Given the description of an element on the screen output the (x, y) to click on. 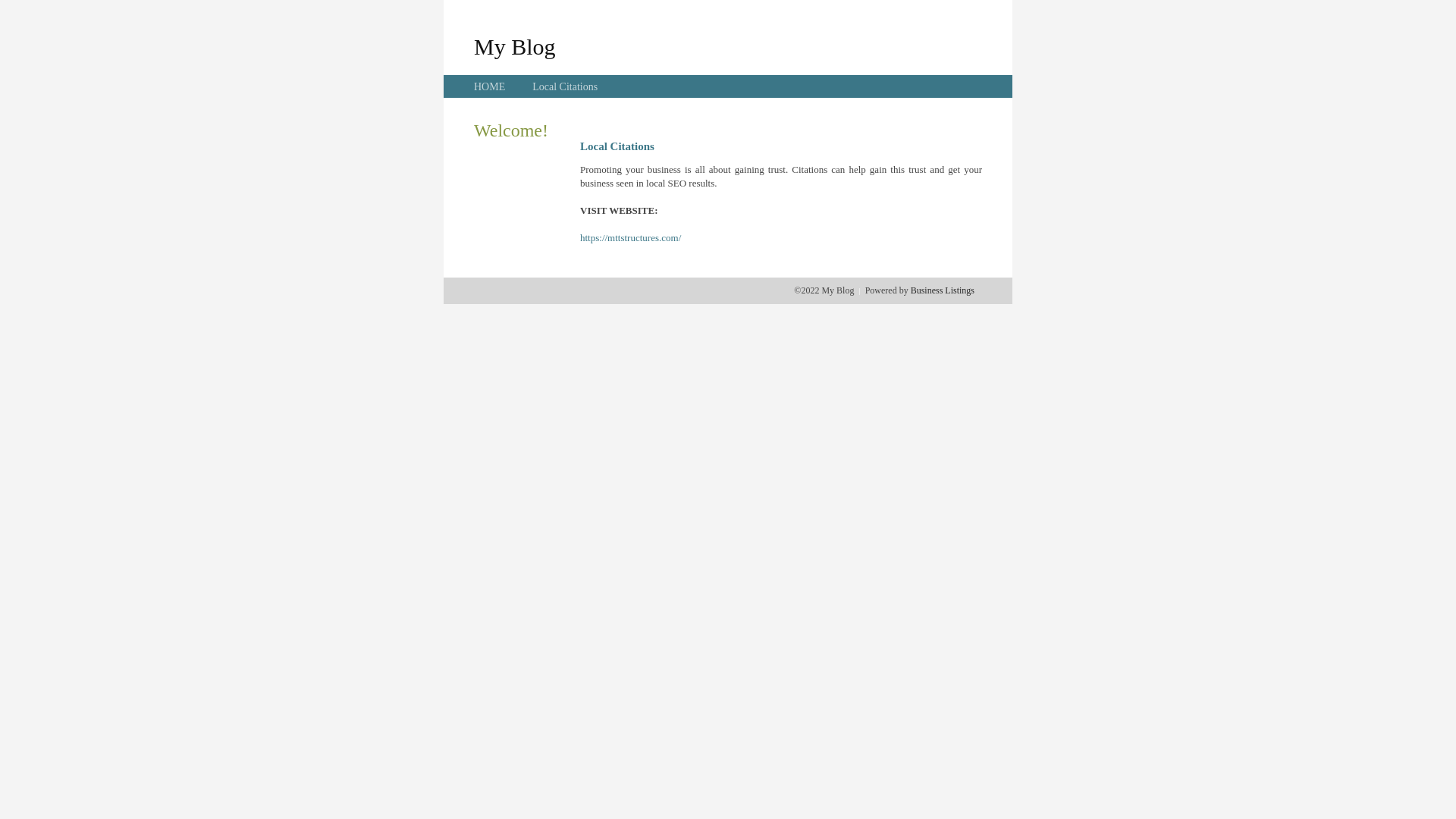
Business Listings Element type: text (942, 290)
HOME Element type: text (489, 86)
My Blog Element type: text (514, 46)
https://mttstructures.com/ Element type: text (630, 237)
Local Citations Element type: text (564, 86)
